Given the description of an element on the screen output the (x, y) to click on. 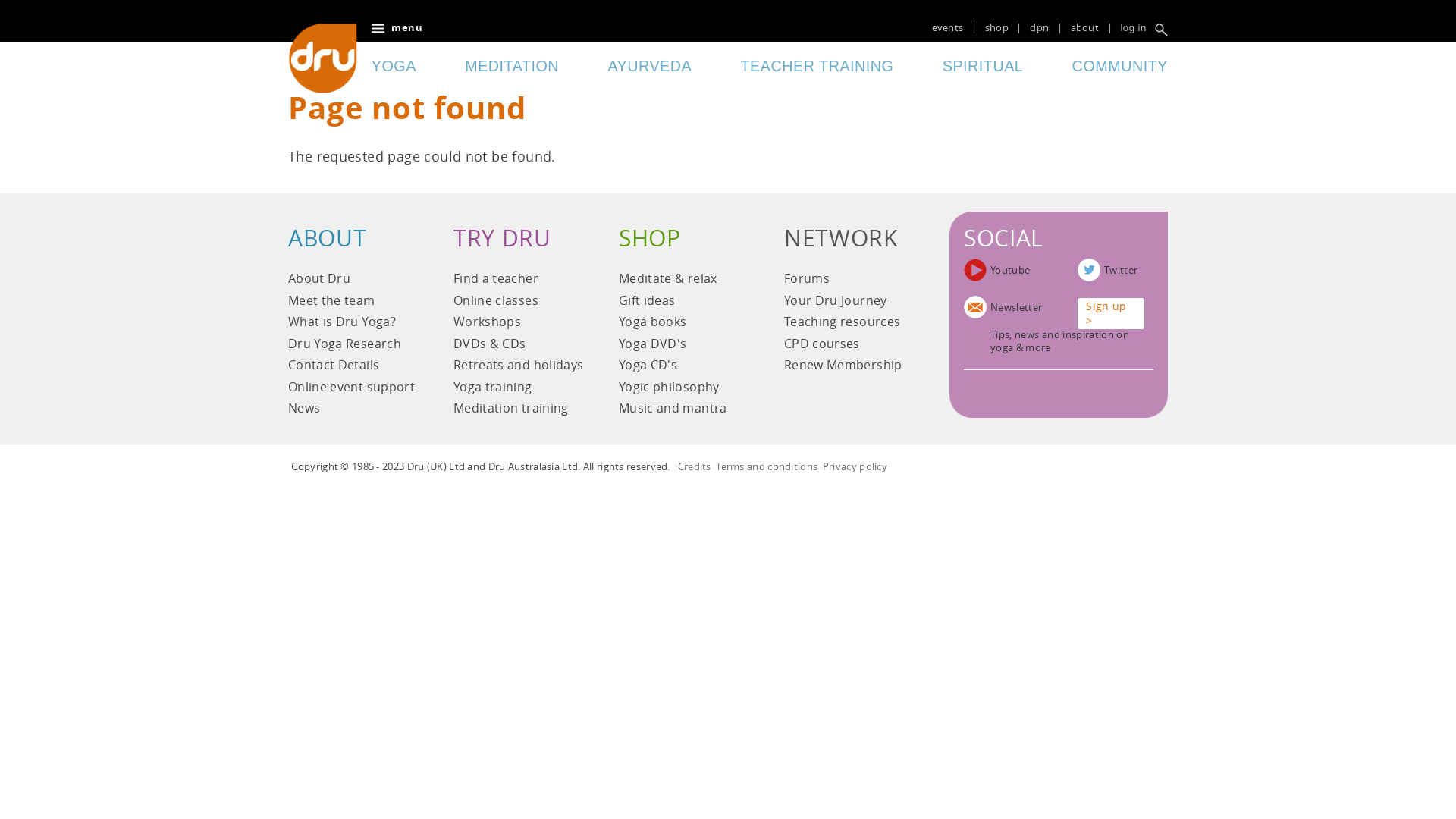
Yoga CD's Element type: text (683, 367)
Meditate & relax Element type: text (683, 280)
Yoga books Element type: text (683, 324)
Gift ideas Element type: text (683, 302)
about Element type: text (1084, 27)
Online event support Element type: text (353, 389)
COMMUNITY Element type: text (1119, 66)
Sign up > Element type: text (1110, 313)
Find a teacher Element type: text (518, 280)
About Dru Element type: text (353, 280)
Yoga DVD's Element type: text (683, 346)
Druyoga.com home Element type: hover (322, 58)
Online classes Element type: text (518, 302)
Contact Details Element type: text (353, 367)
Workshops Element type: text (518, 324)
Yoga training Element type: text (518, 389)
AYURVEDA Element type: text (649, 66)
Your Dru Journey Element type: text (849, 302)
MEDITATION Element type: text (511, 66)
log in Element type: text (1132, 27)
Retreats and holidays Element type: text (518, 367)
Meditation training Element type: text (518, 410)
Credits Element type: text (694, 466)
events Element type: text (947, 27)
Dru Yoga Research Element type: text (353, 346)
TEACHER TRAINING Element type: text (817, 66)
Yogic philosophy Element type: text (683, 389)
shop Element type: text (996, 27)
menu Element type: text (396, 27)
dpn Element type: text (1038, 27)
Renew Membership Element type: text (849, 367)
YOGA Element type: text (393, 66)
SPIRITUAL Element type: text (982, 66)
CPD courses Element type: text (849, 346)
DVDs & CDs Element type: text (518, 346)
Terms and conditions Element type: text (766, 466)
Skip to main content Element type: text (84, 0)
Forums Element type: text (849, 280)
Meet the team Element type: text (353, 302)
What is Dru Yoga? Element type: text (353, 324)
News Element type: text (353, 410)
Teaching resources Element type: text (849, 324)
Privacy policy Element type: text (854, 466)
Music and mantra Element type: text (683, 410)
